Given the description of an element on the screen output the (x, y) to click on. 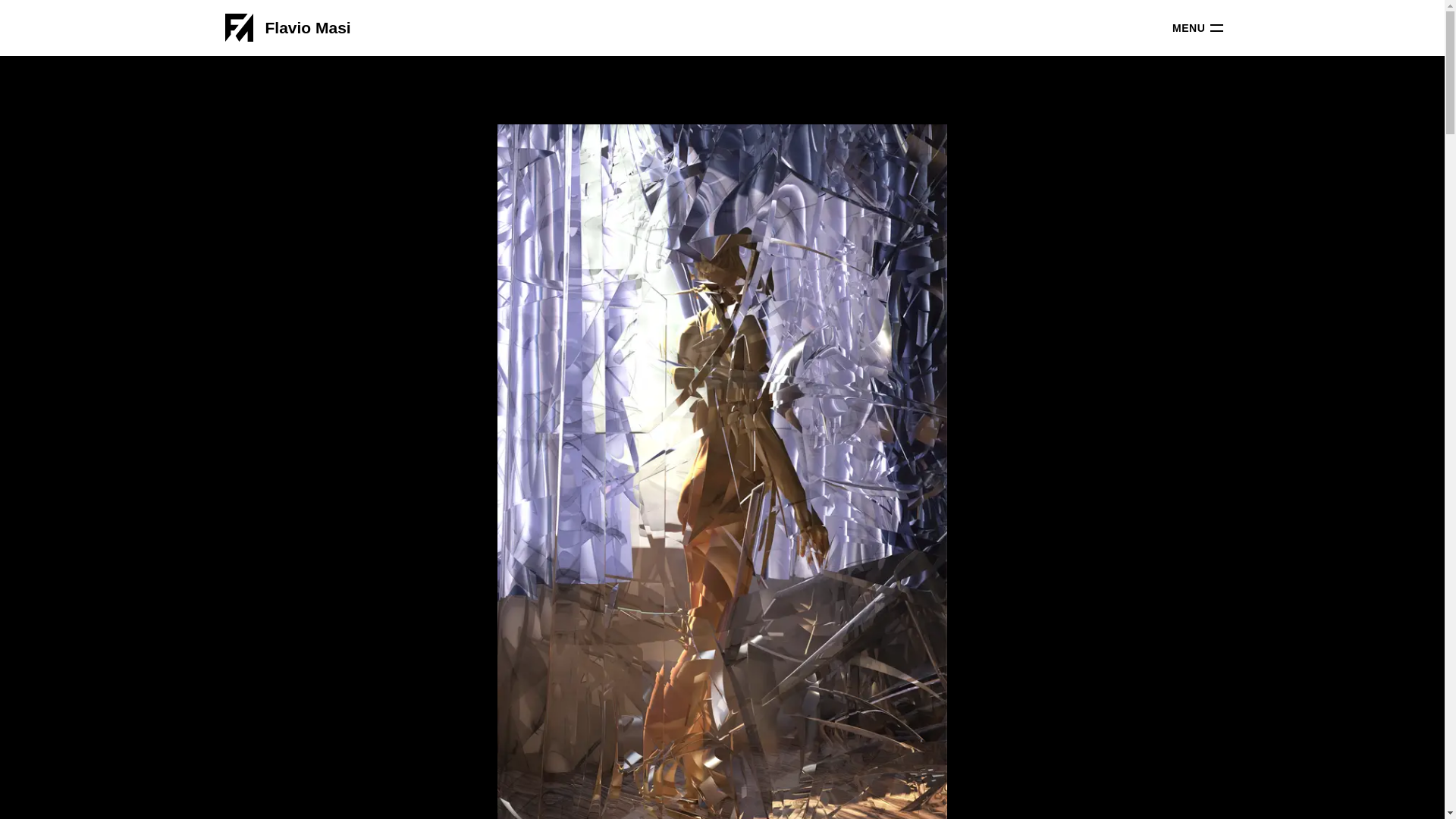
Flavio Masi (313, 27)
